Given the description of an element on the screen output the (x, y) to click on. 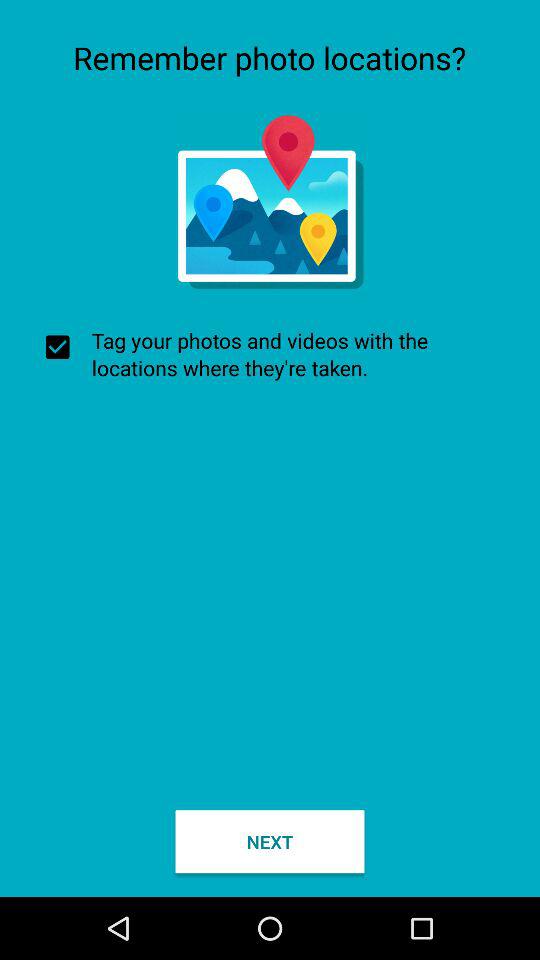
press the checkbox at the center (269, 354)
